Given the description of an element on the screen output the (x, y) to click on. 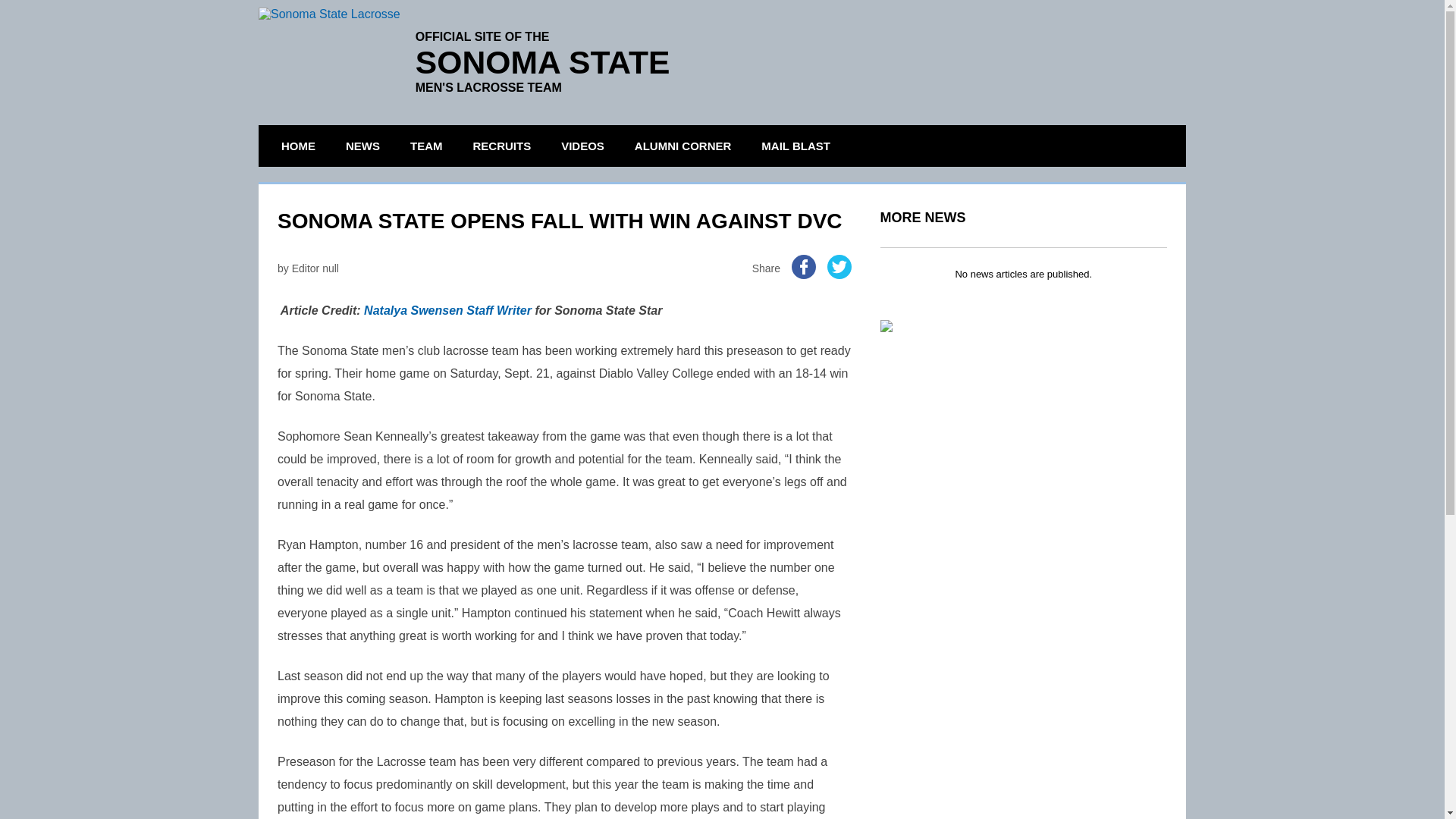
Natalya Swensen Staff Writer (447, 309)
HOME (297, 146)
MAIL BLAST (795, 146)
NEWS (362, 146)
VIDEOS (582, 146)
